Given the description of an element on the screen output the (x, y) to click on. 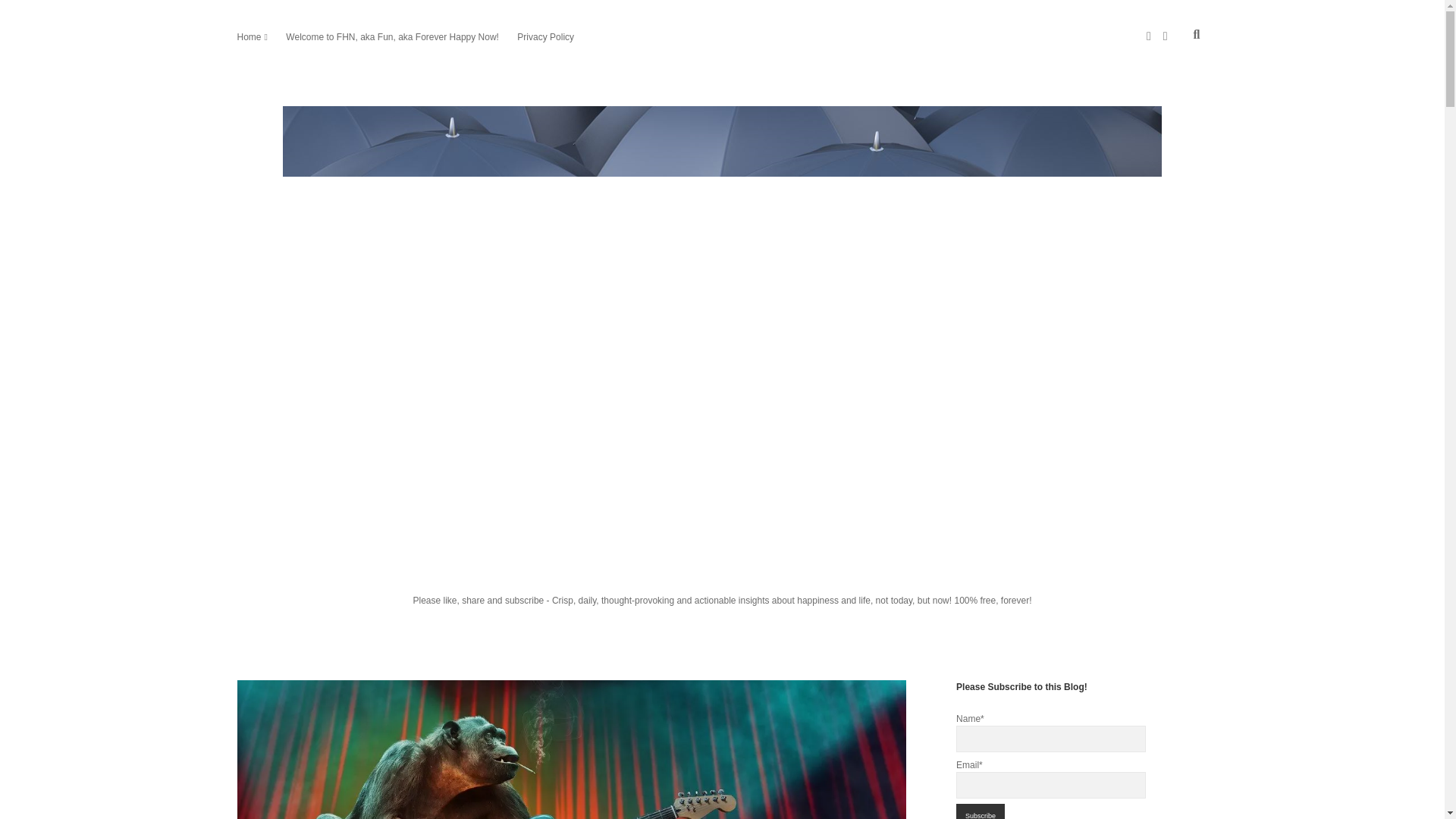
Subscribe (980, 811)
Welcome to FHN, aka Fun, aka Forever Happy Now! (392, 37)
Subscribe (980, 811)
Forever Happy Now! (721, 560)
Home (247, 37)
Privacy Policy (544, 37)
